Given the description of an element on the screen output the (x, y) to click on. 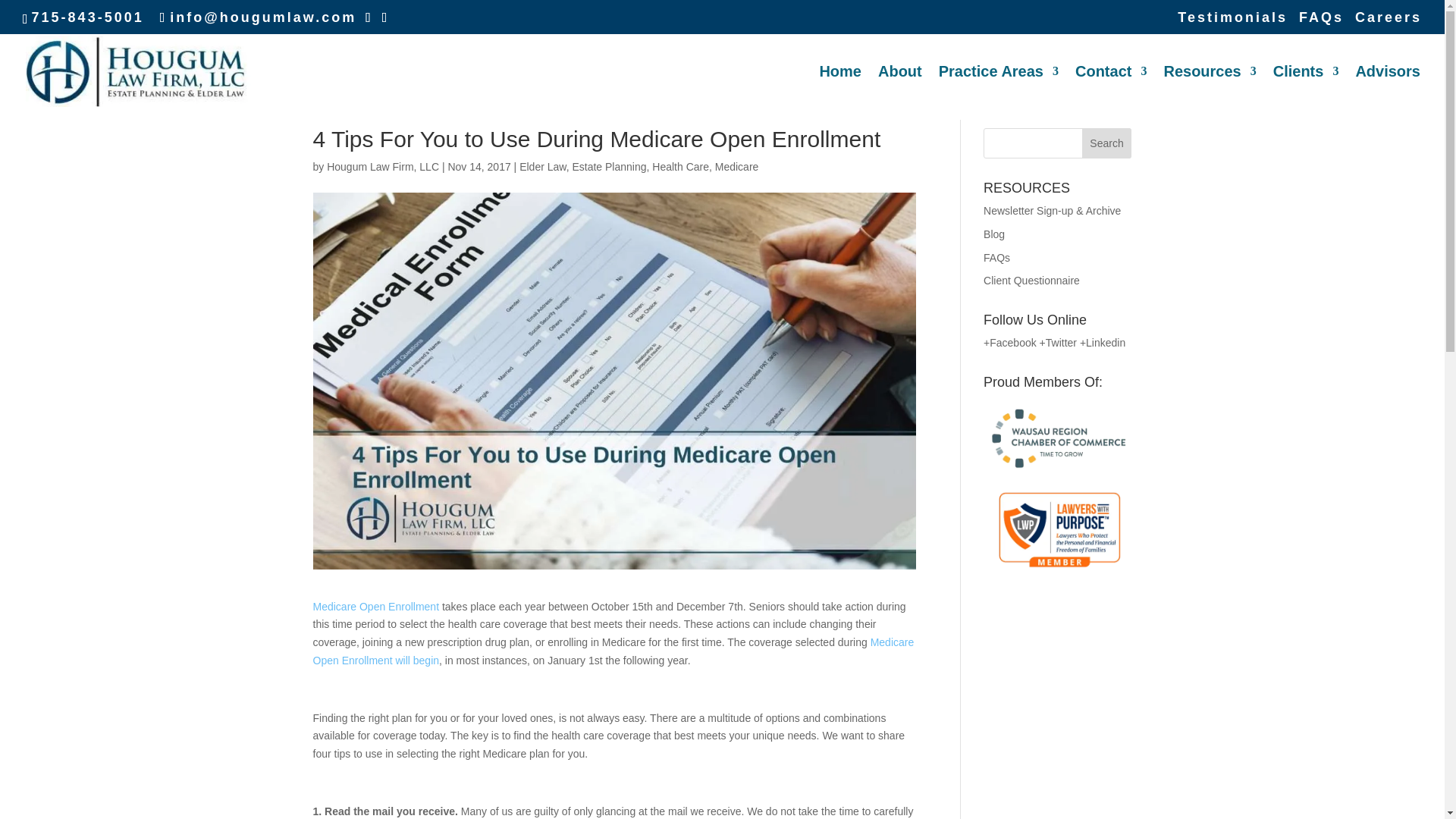
Testimonials (1232, 22)
Hougum Law Firm, LLC (382, 166)
FAQs (1320, 22)
Posts by Hougum Law Firm, LLC (382, 166)
Contact (1111, 92)
Medicare Open Enrollment (376, 606)
Medicare Open Enrollment will begin (613, 651)
Medicare (736, 166)
Health Care (680, 166)
Advisors (1388, 92)
